Given the description of an element on the screen output the (x, y) to click on. 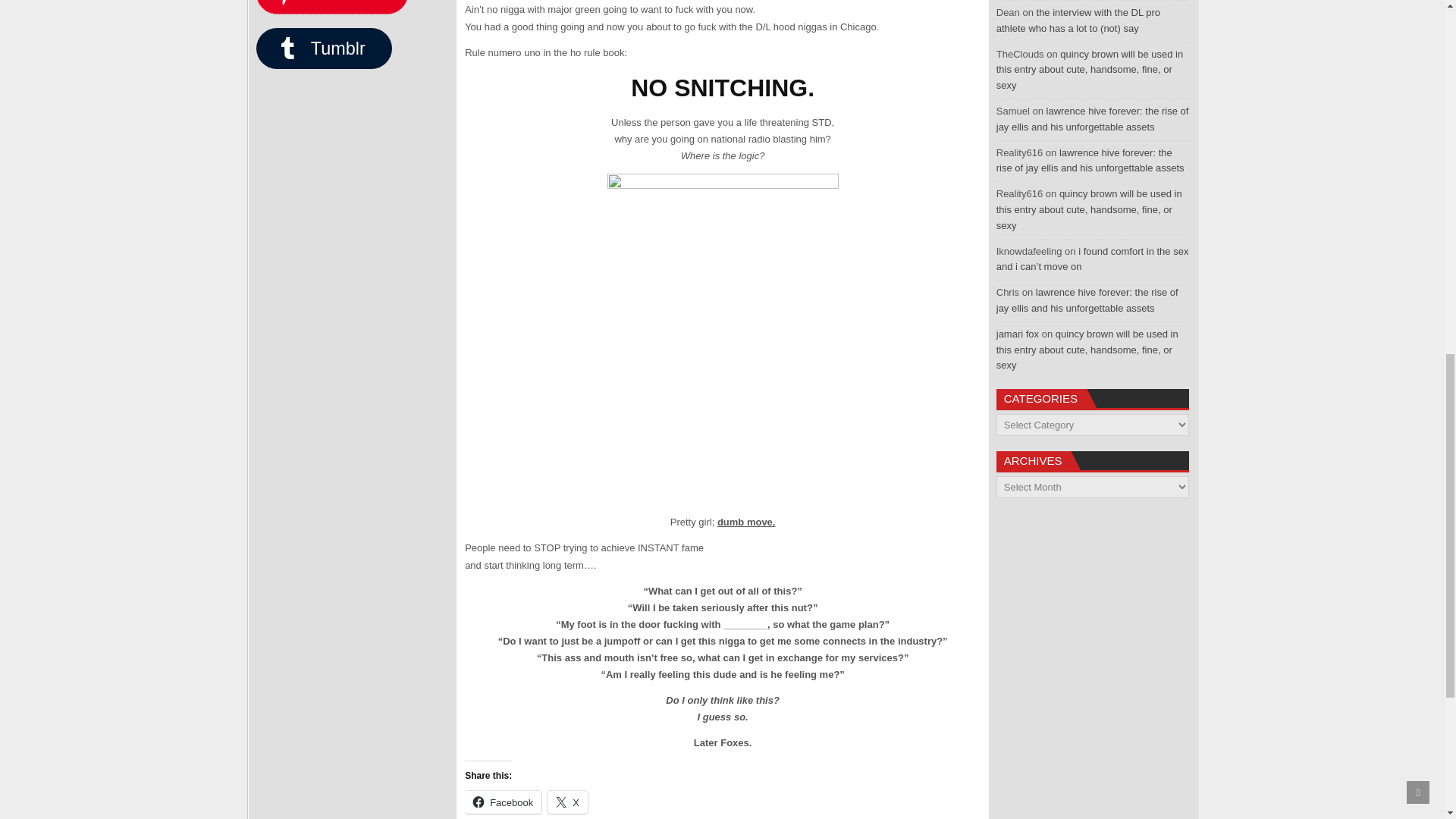
Click to share on X (567, 802)
Facebook (502, 802)
X (567, 802)
Click to share on Facebook (502, 802)
